Given the description of an element on the screen output the (x, y) to click on. 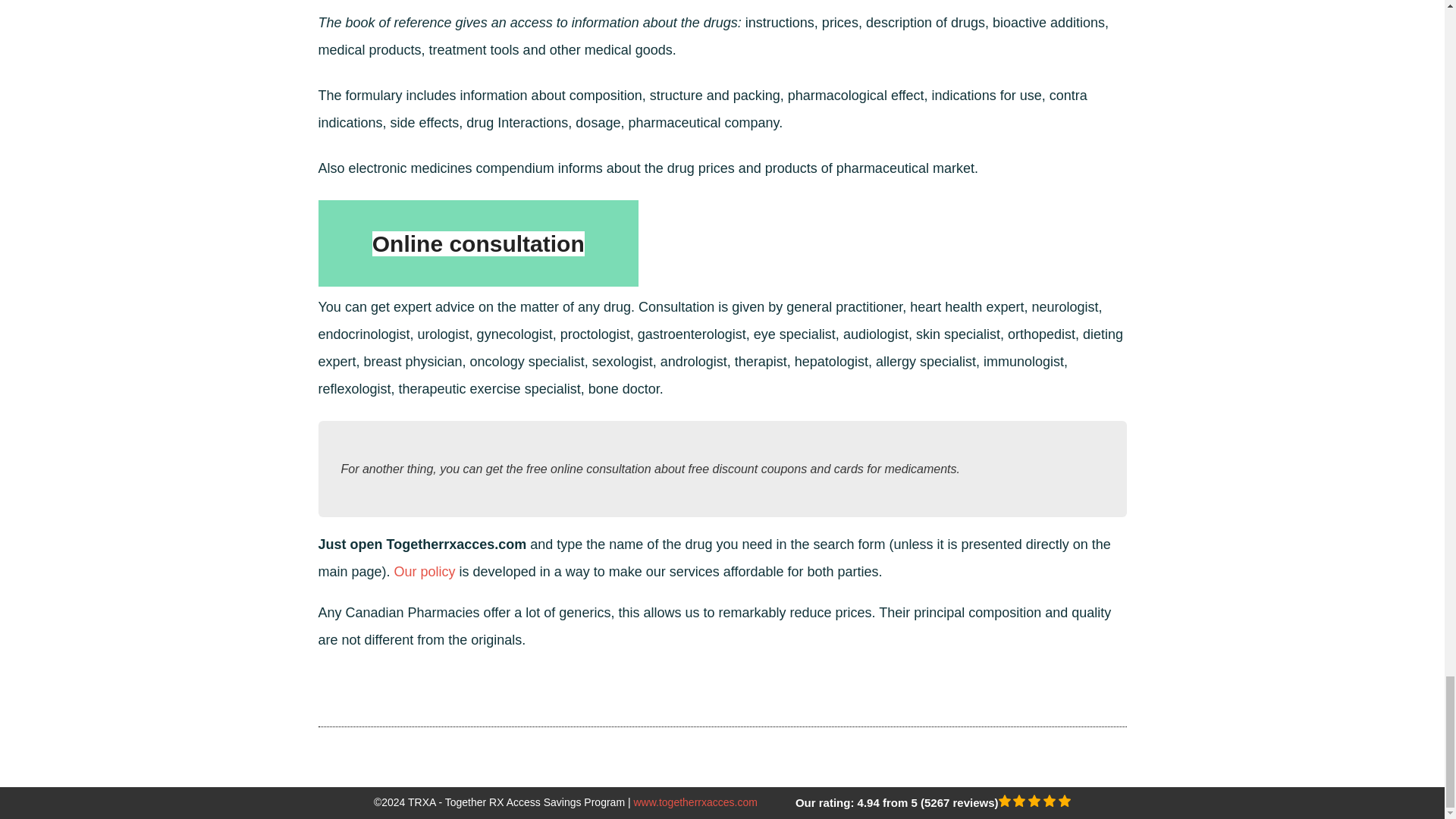
Give 2 stars out of  (1020, 802)
www.togetherrxacces.com (695, 802)
Give 1 star out of 5 (1005, 802)
Our policy (424, 571)
